Given the description of an element on the screen output the (x, y) to click on. 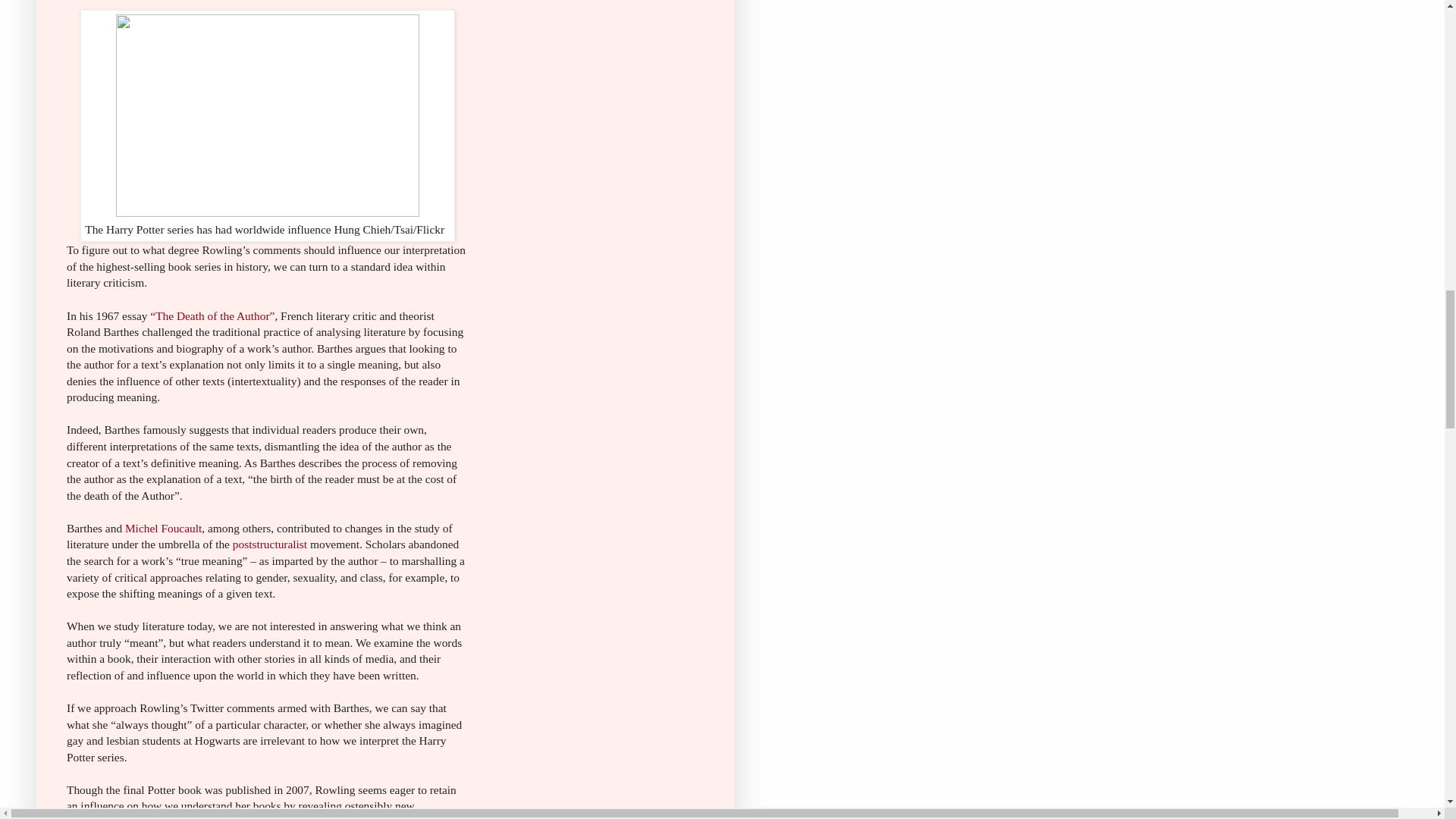
Michel Foucault (163, 527)
poststructuralist (269, 543)
